Given the description of an element on the screen output the (x, y) to click on. 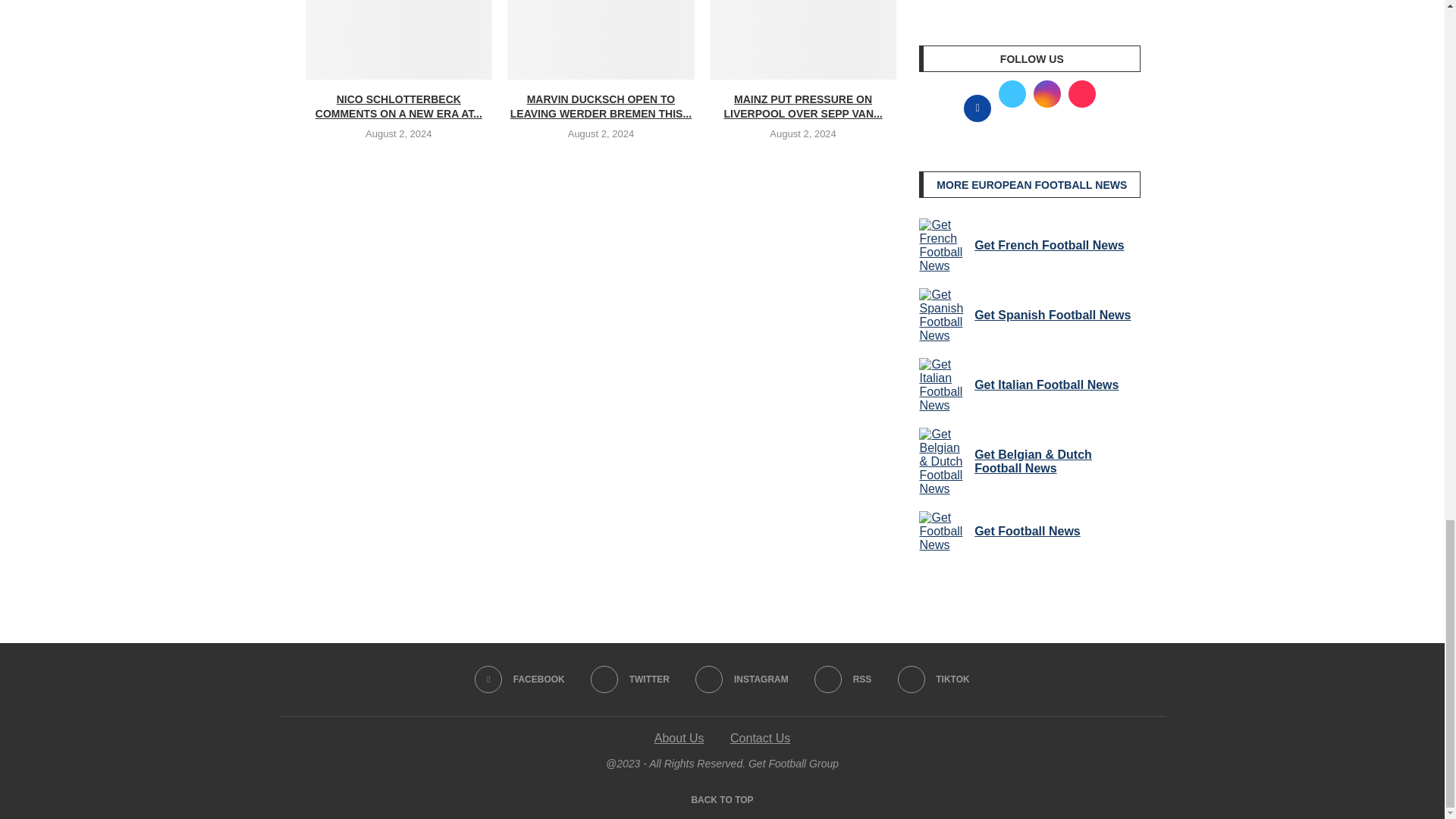
Get Spanish Football News (943, 315)
Get French Football News (943, 245)
Get Football News (943, 531)
Get Italian Football News (943, 384)
Mainz put pressure on Liverpool over Sepp van den Berg deal (803, 39)
Marvin Ducksch open to leaving Werder Bremen this summer (600, 39)
